Given the description of an element on the screen output the (x, y) to click on. 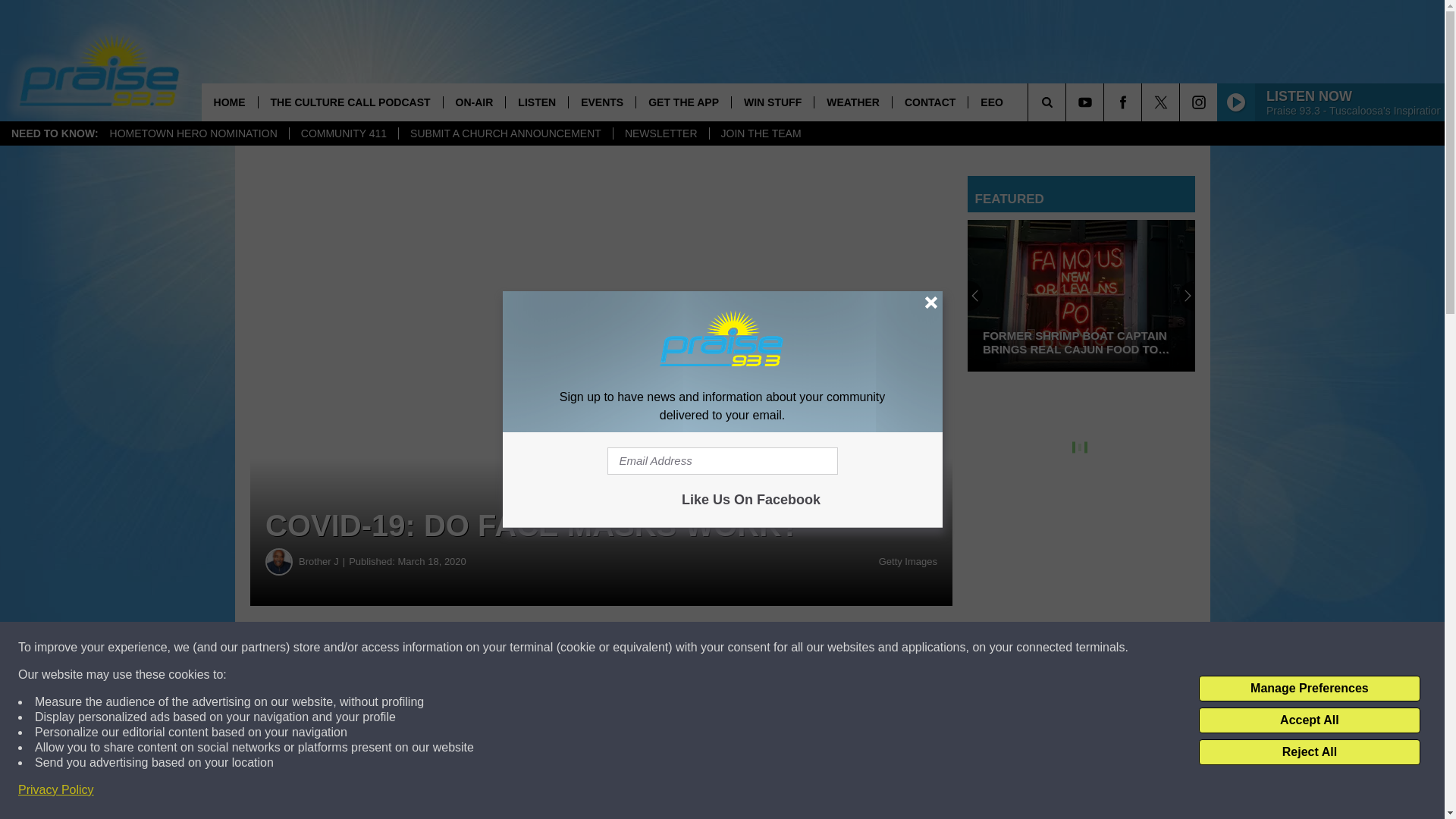
GET THE APP (682, 102)
Accept All (1309, 720)
Email Address (722, 461)
HOMETOWN HERO NOMINATION (193, 133)
Share on Facebook (460, 647)
Privacy Policy (55, 789)
Share on Twitter (741, 647)
Reject All (1309, 751)
SUBMIT A CHURCH ANNOUNCEMENT (504, 133)
SEARCH (1068, 102)
NEWSLETTER (660, 133)
SEARCH (1068, 102)
Manage Preferences (1309, 688)
COMMUNITY 411 (342, 133)
EVENTS (600, 102)
